Given the description of an element on the screen output the (x, y) to click on. 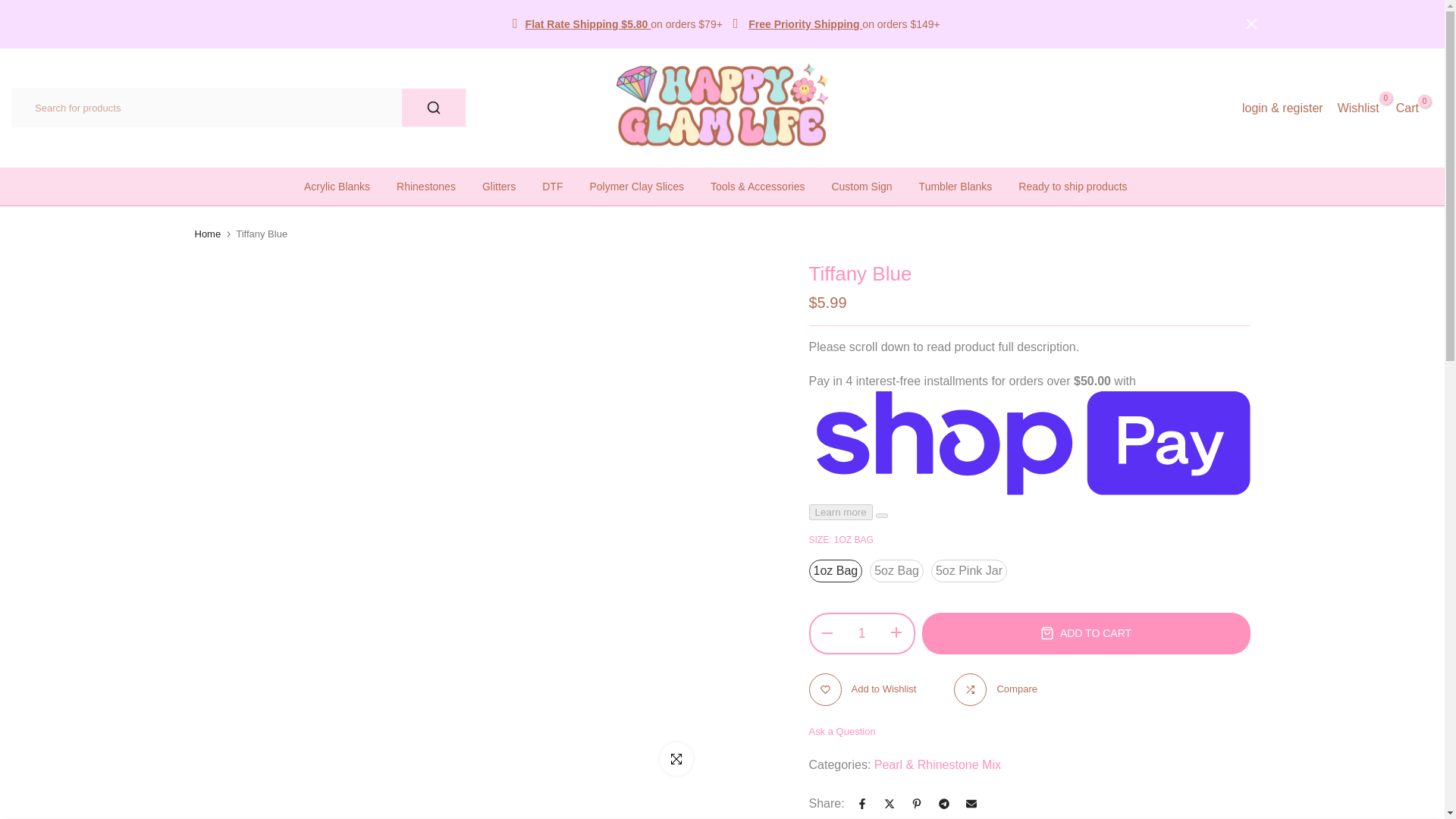
Share on Telegram (943, 803)
Skip to content (10, 7)
Rhinestones (426, 186)
Custom Sign (1358, 107)
close (1407, 107)
Share on Facebook (861, 186)
Glitters (1250, 23)
DTF (861, 803)
Acrylic Blanks (498, 186)
Polymer Clay Slices (552, 186)
Share on Email (344, 186)
Tumbler Blanks (636, 186)
Home (970, 803)
